Given the description of an element on the screen output the (x, y) to click on. 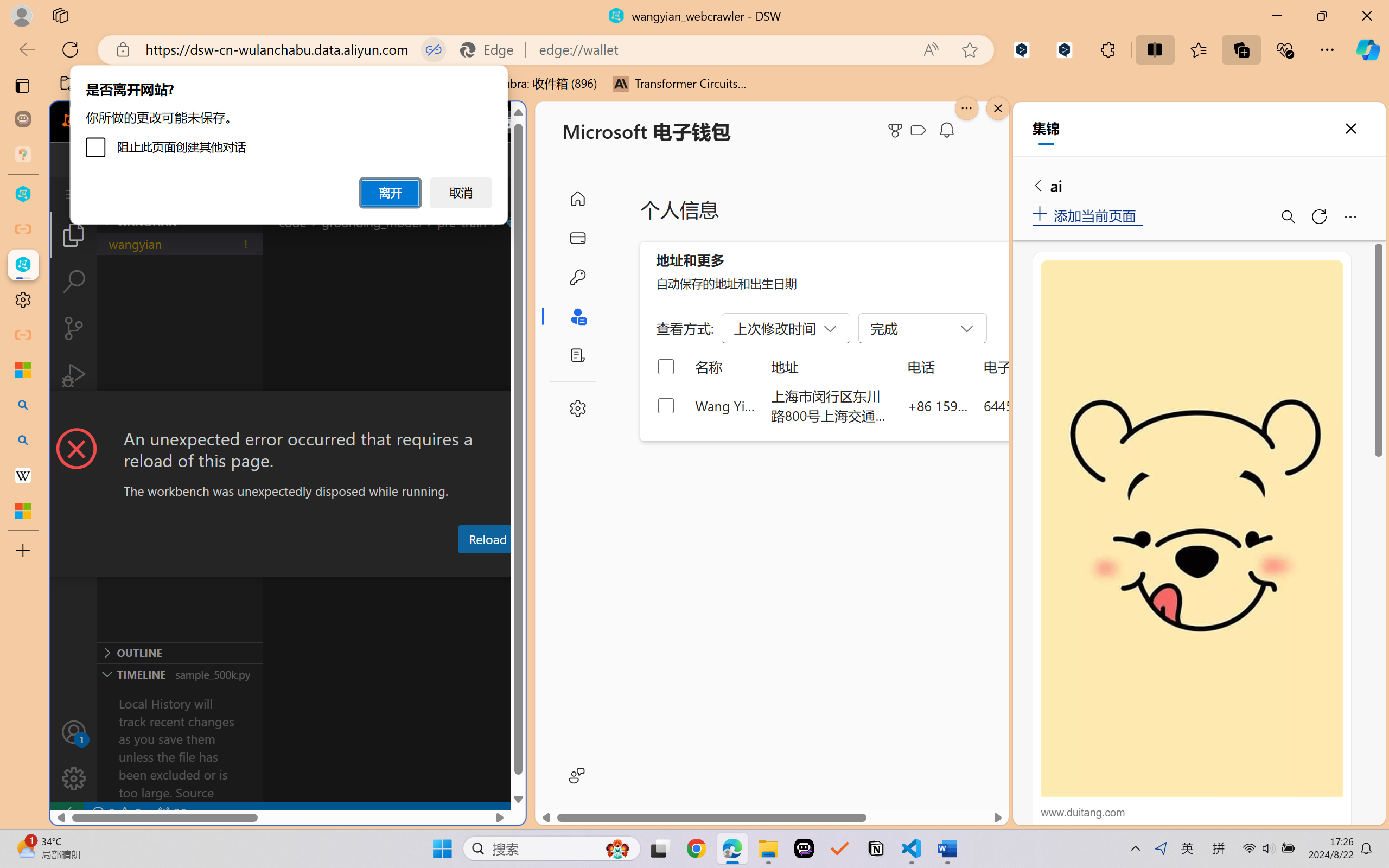
Timeline Section (179, 673)
Earth - Wikipedia (22, 475)
Output (Ctrl+Shift+U) (377, 565)
remote (66, 812)
Microsoft Rewards (896, 129)
